Given the description of an element on the screen output the (x, y) to click on. 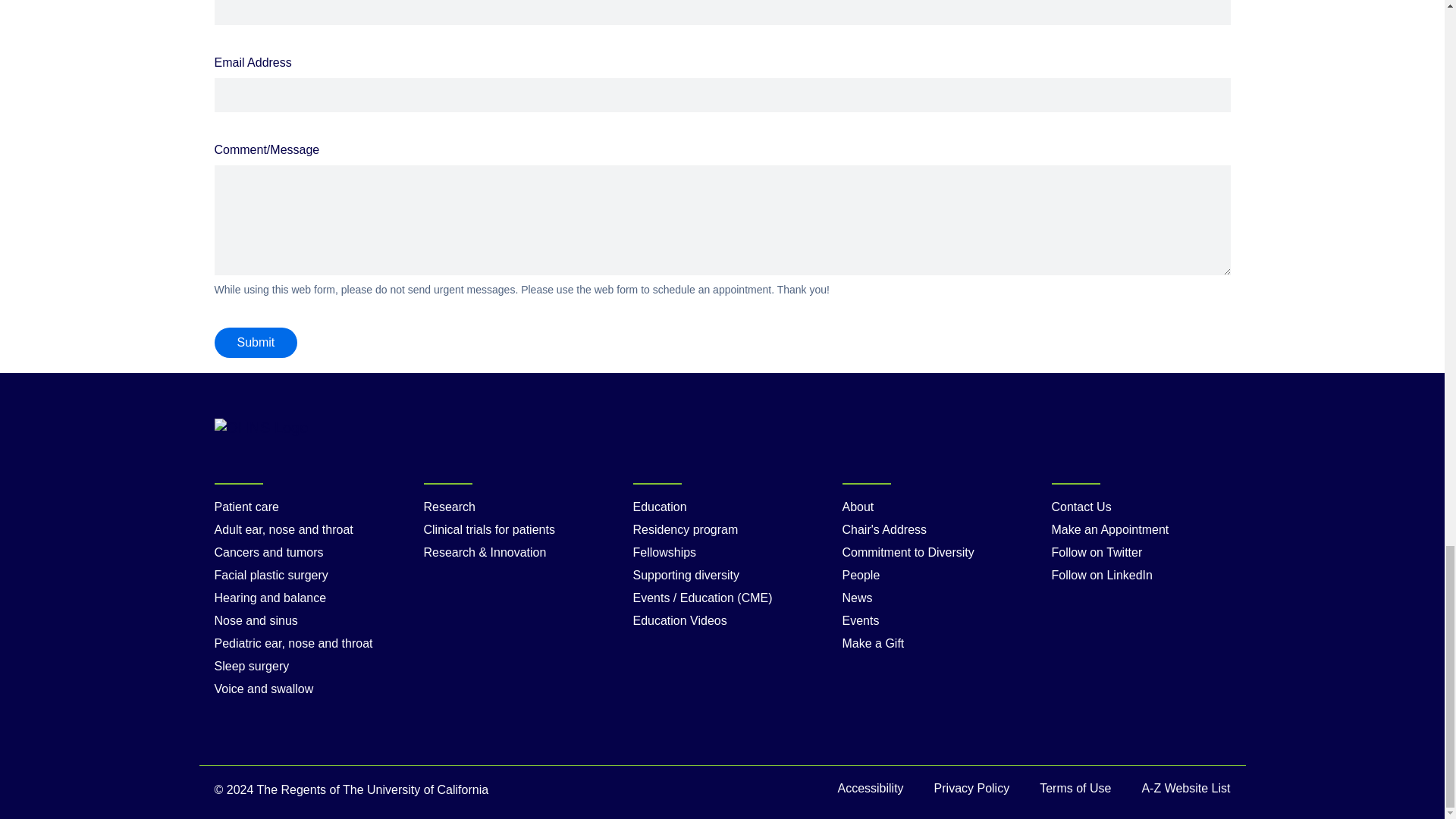
Submit (255, 342)
